Given the description of an element on the screen output the (x, y) to click on. 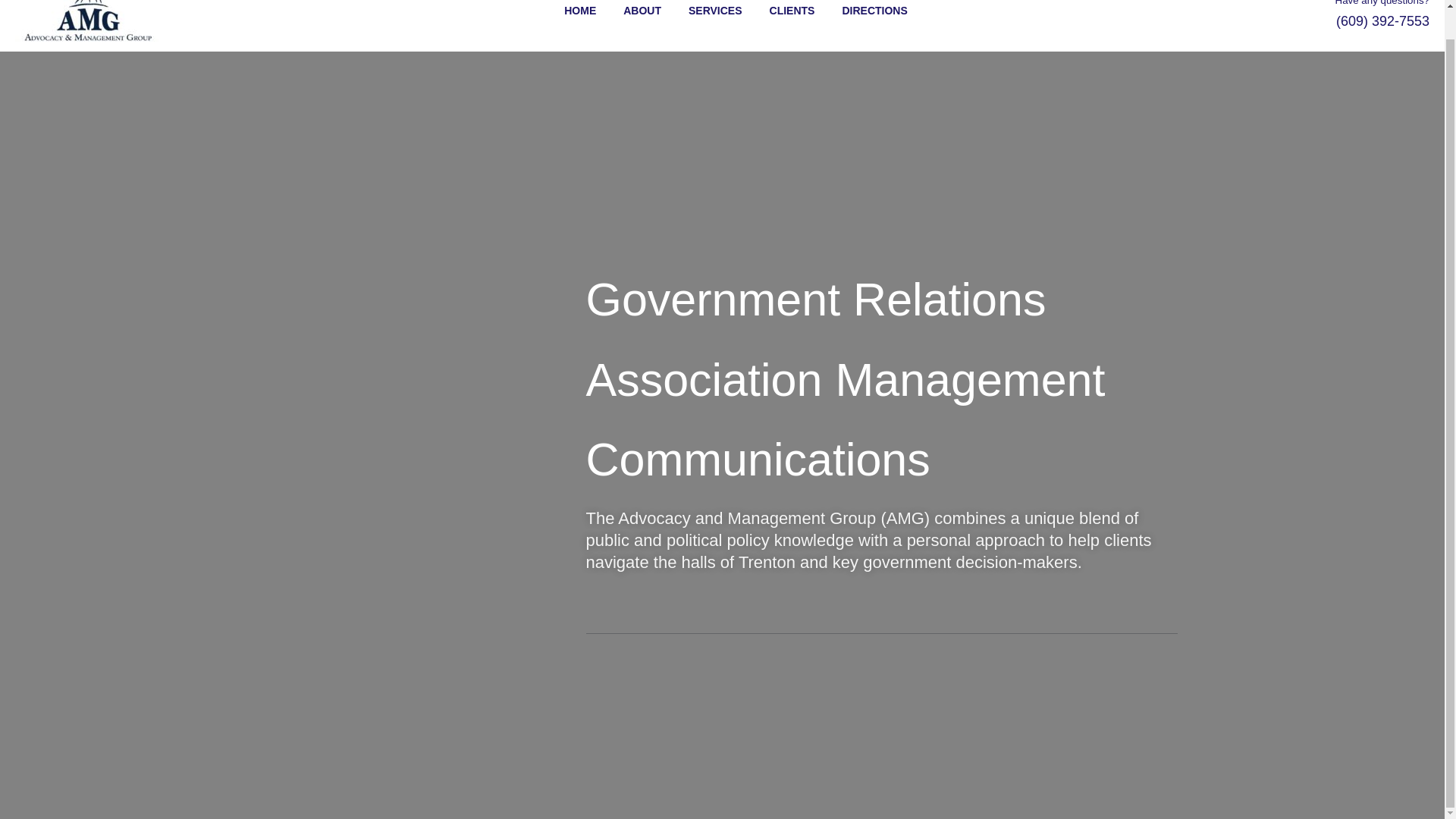
HOME (566, 11)
ABOUT (628, 11)
SERVICES (701, 11)
DIRECTIONS (860, 11)
CLIENTS (778, 11)
